Given the description of an element on the screen output the (x, y) to click on. 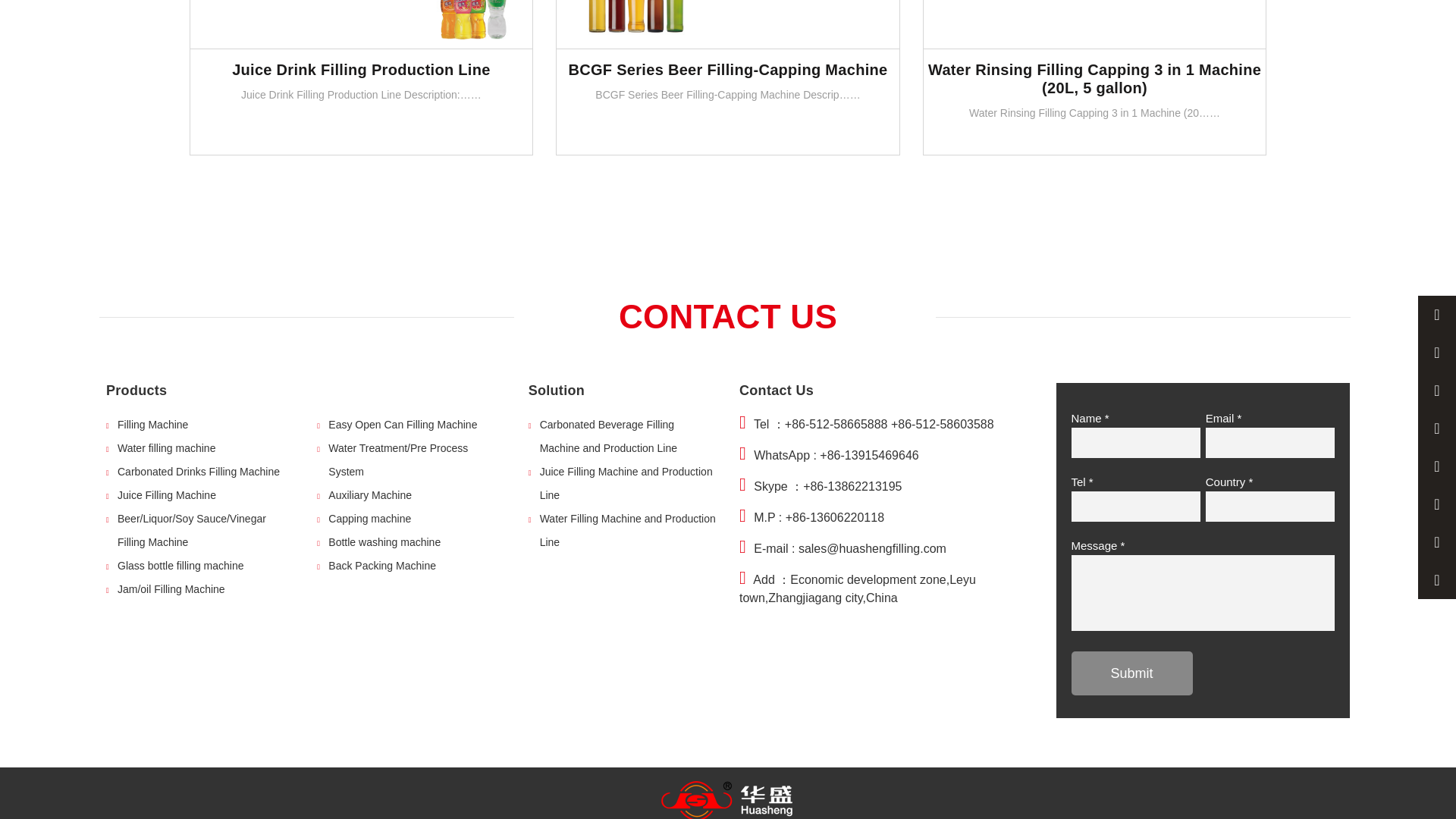
Juice Drink Filling Production Line (361, 24)
Submit (1131, 673)
BCGF Series Beer Filling-Capping Machine (727, 24)
